Given the description of an element on the screen output the (x, y) to click on. 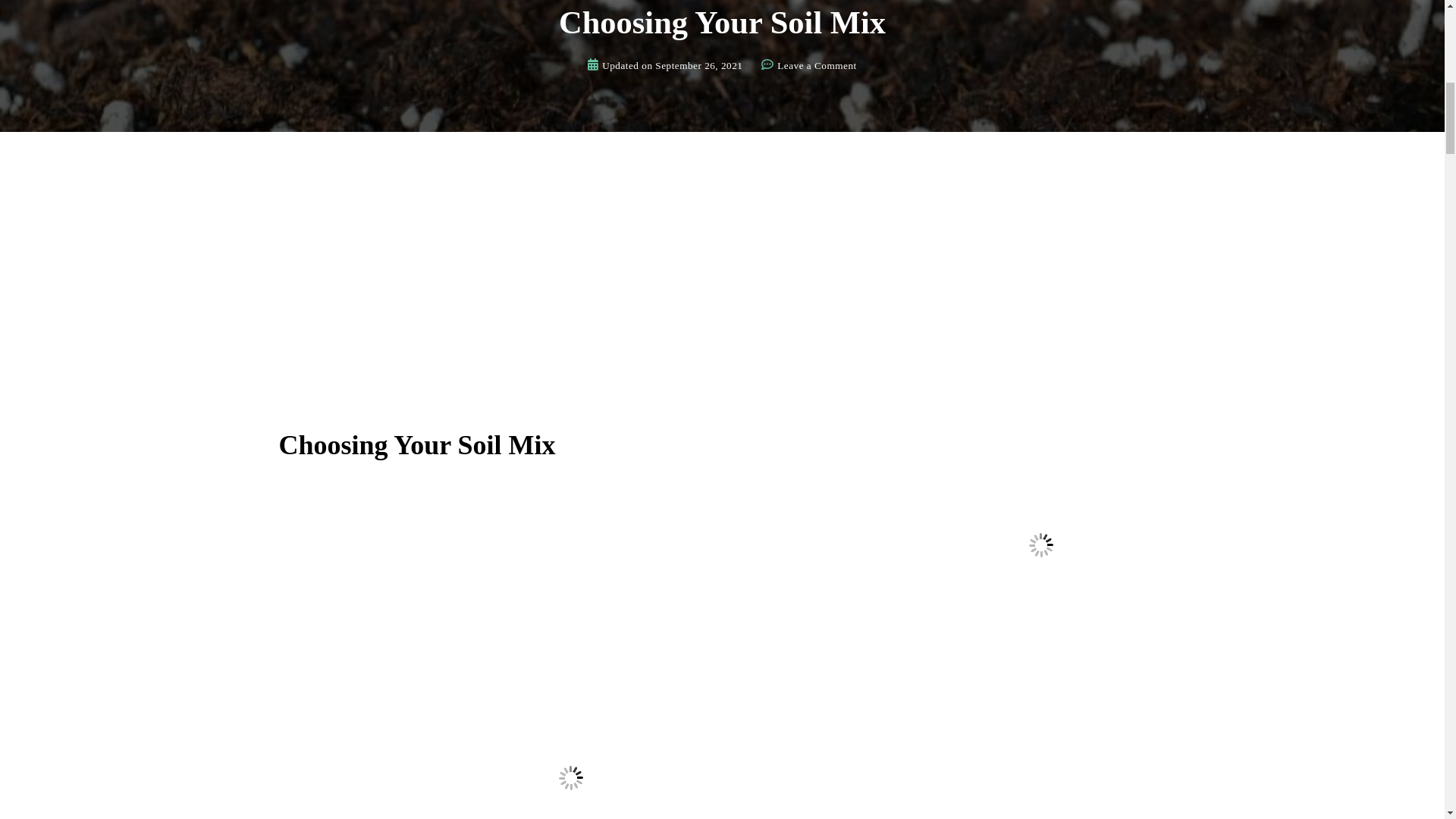
Advertisement (816, 66)
Advertisement (698, 66)
